Given the description of an element on the screen output the (x, y) to click on. 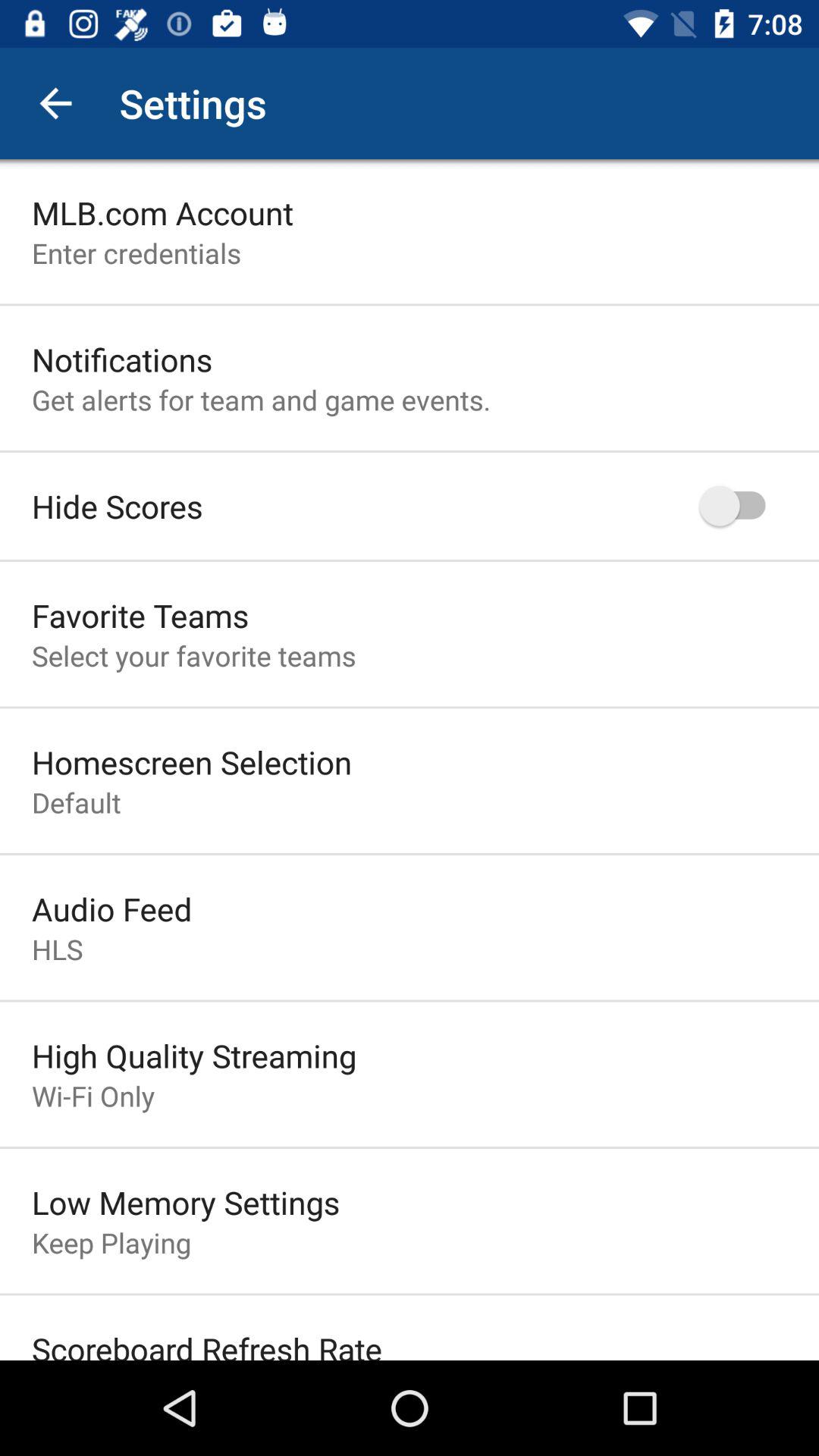
open the enter credentials icon (136, 252)
